Given the description of an element on the screen output the (x, y) to click on. 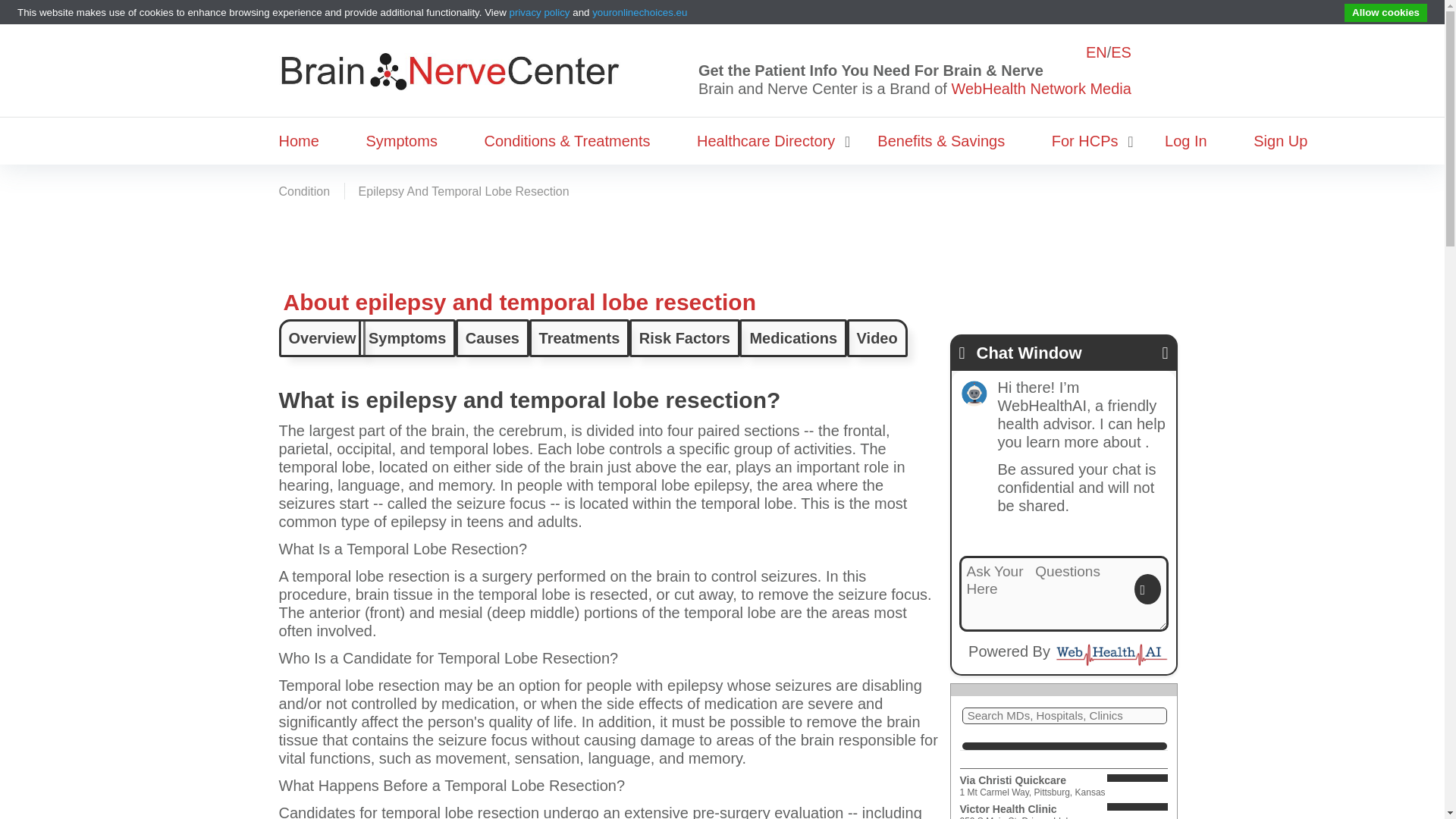
EN (1096, 52)
WebHealth Network Media (1040, 88)
3rd party ad content (721, 240)
For HCPs (1084, 141)
Log In (1185, 141)
Symptoms (401, 141)
Healthcare Directory (765, 141)
Home (302, 141)
ES (1120, 52)
Sign Up (1280, 141)
